Given the description of an element on the screen output the (x, y) to click on. 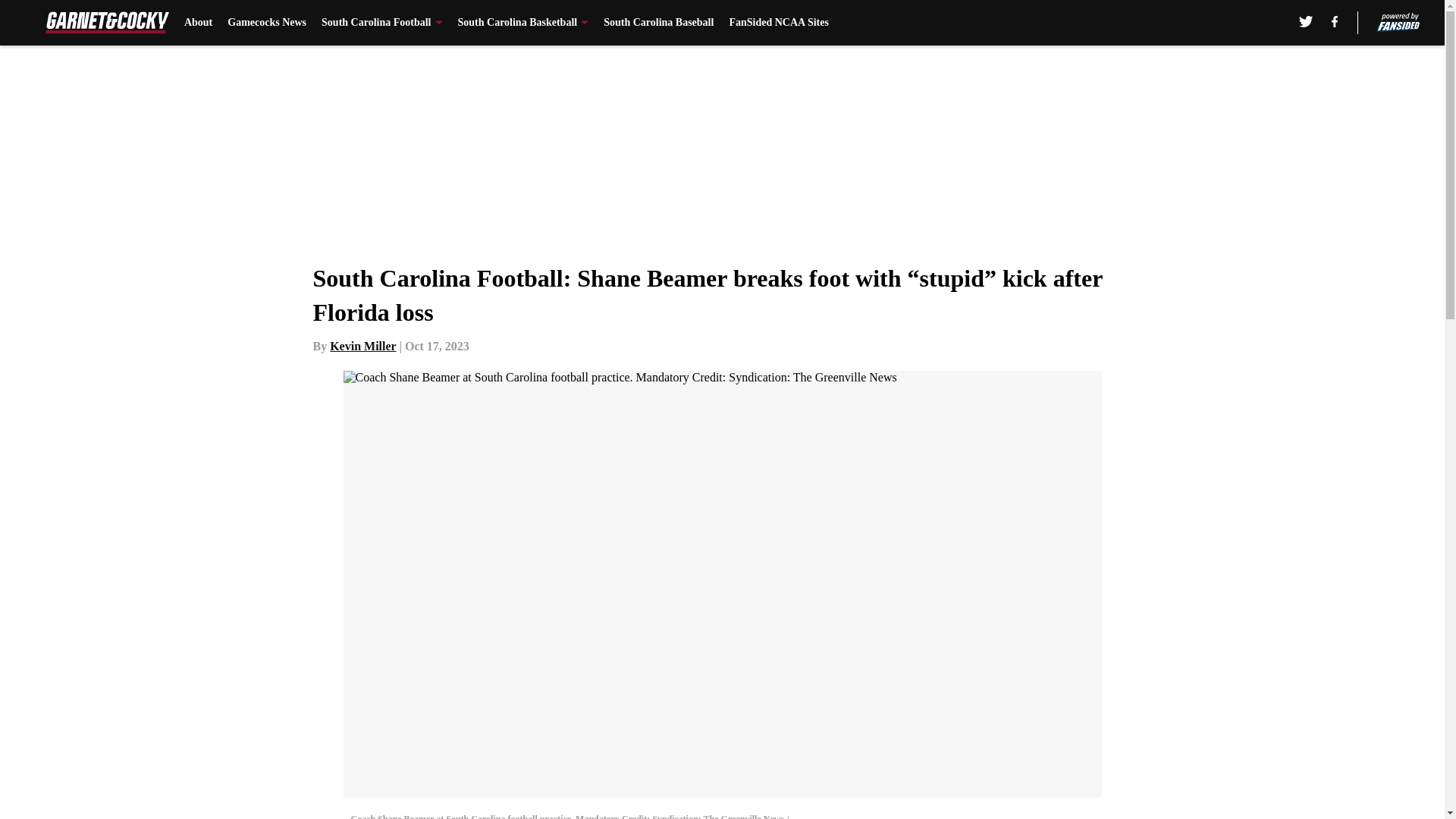
Gamecocks News (266, 22)
About (198, 22)
FanSided NCAA Sites (778, 22)
Kevin Miller (363, 345)
South Carolina Baseball (658, 22)
